Given the description of an element on the screen output the (x, y) to click on. 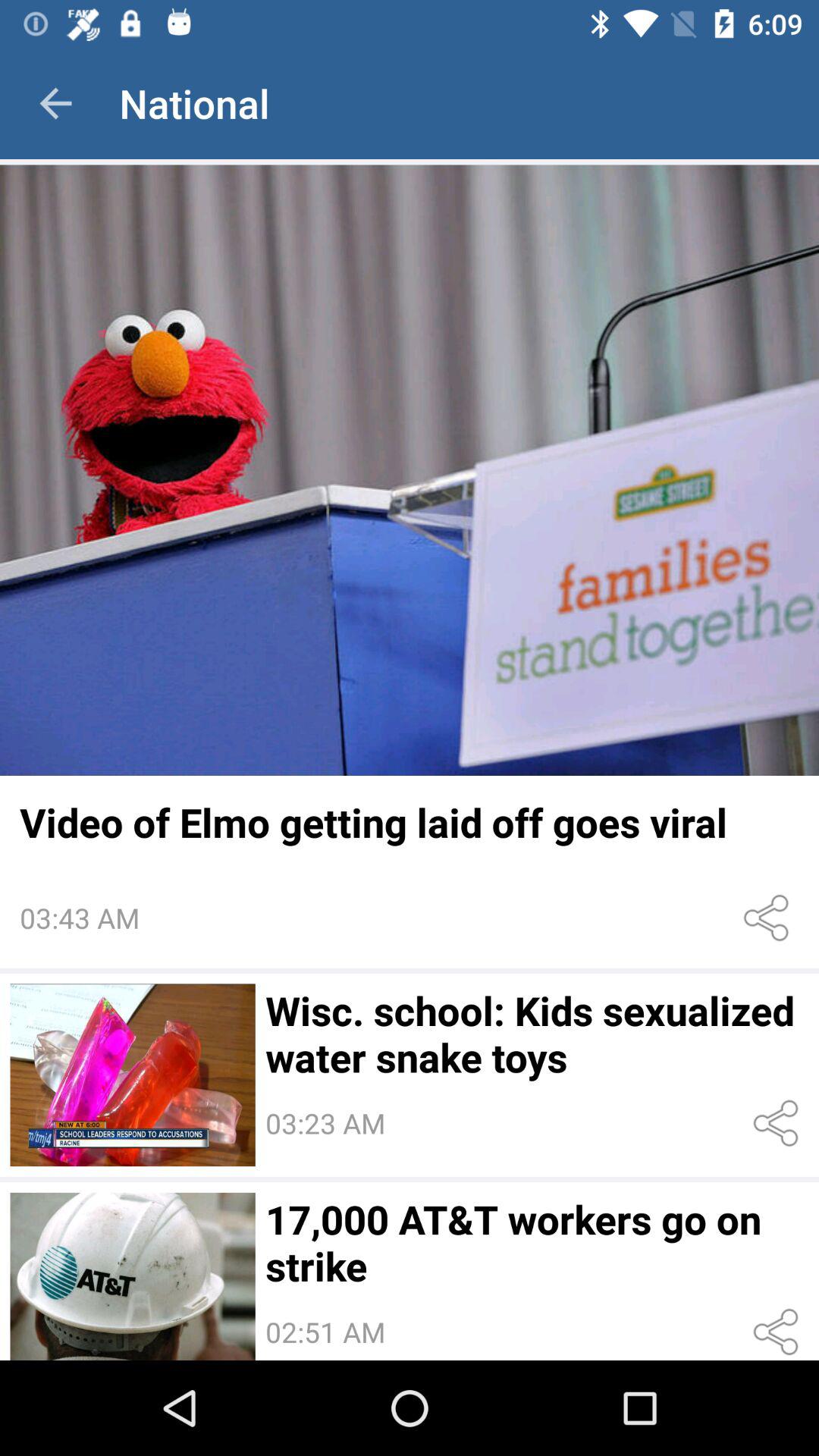
open video (132, 1074)
